Given the description of an element on the screen output the (x, y) to click on. 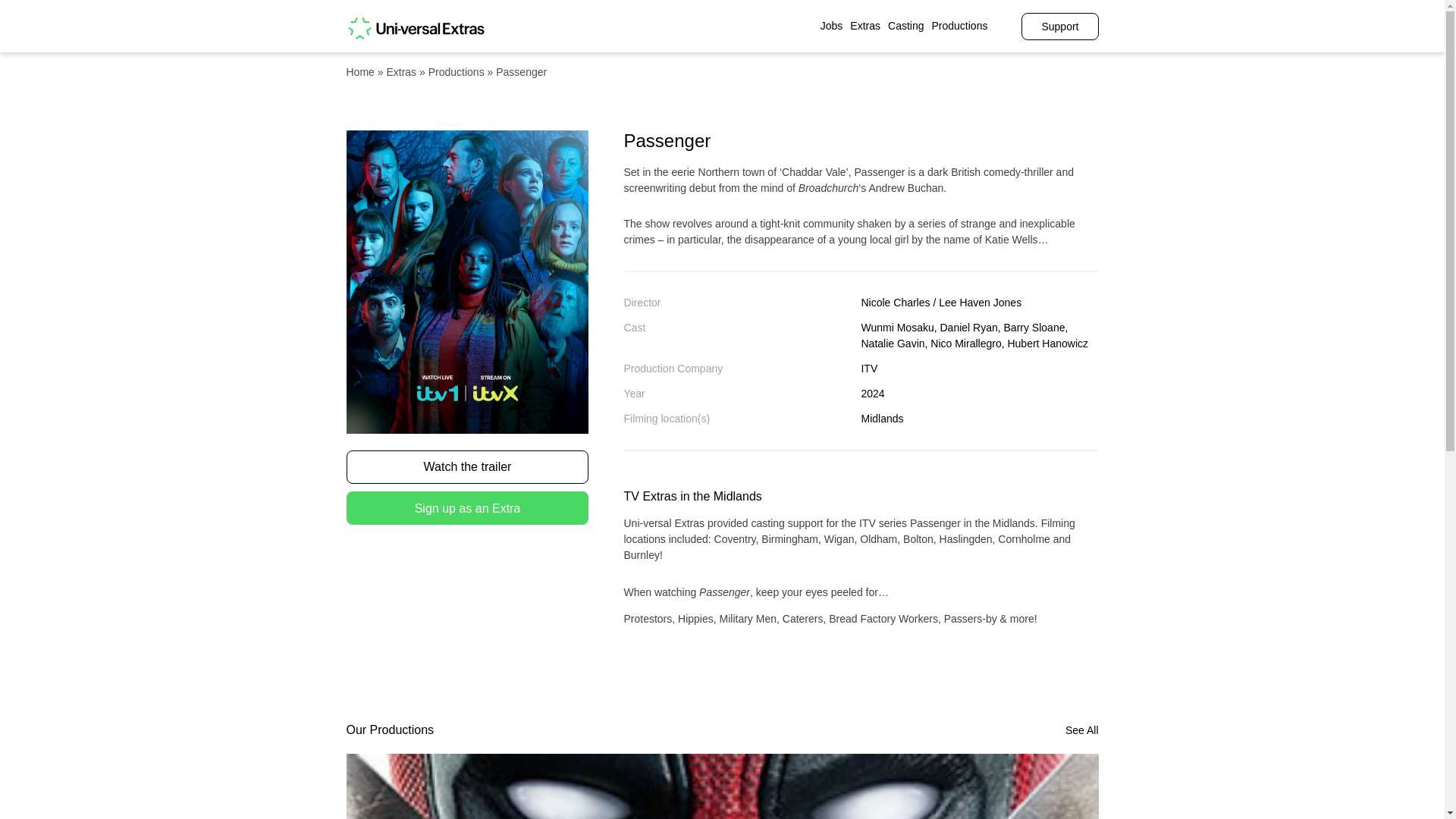
Home (360, 71)
Productions (456, 71)
Watch the trailer (467, 467)
See All (1082, 730)
Productions (959, 26)
Extras (400, 71)
Support (1059, 25)
Sign up as an Extra (467, 507)
